Given the description of an element on the screen output the (x, y) to click on. 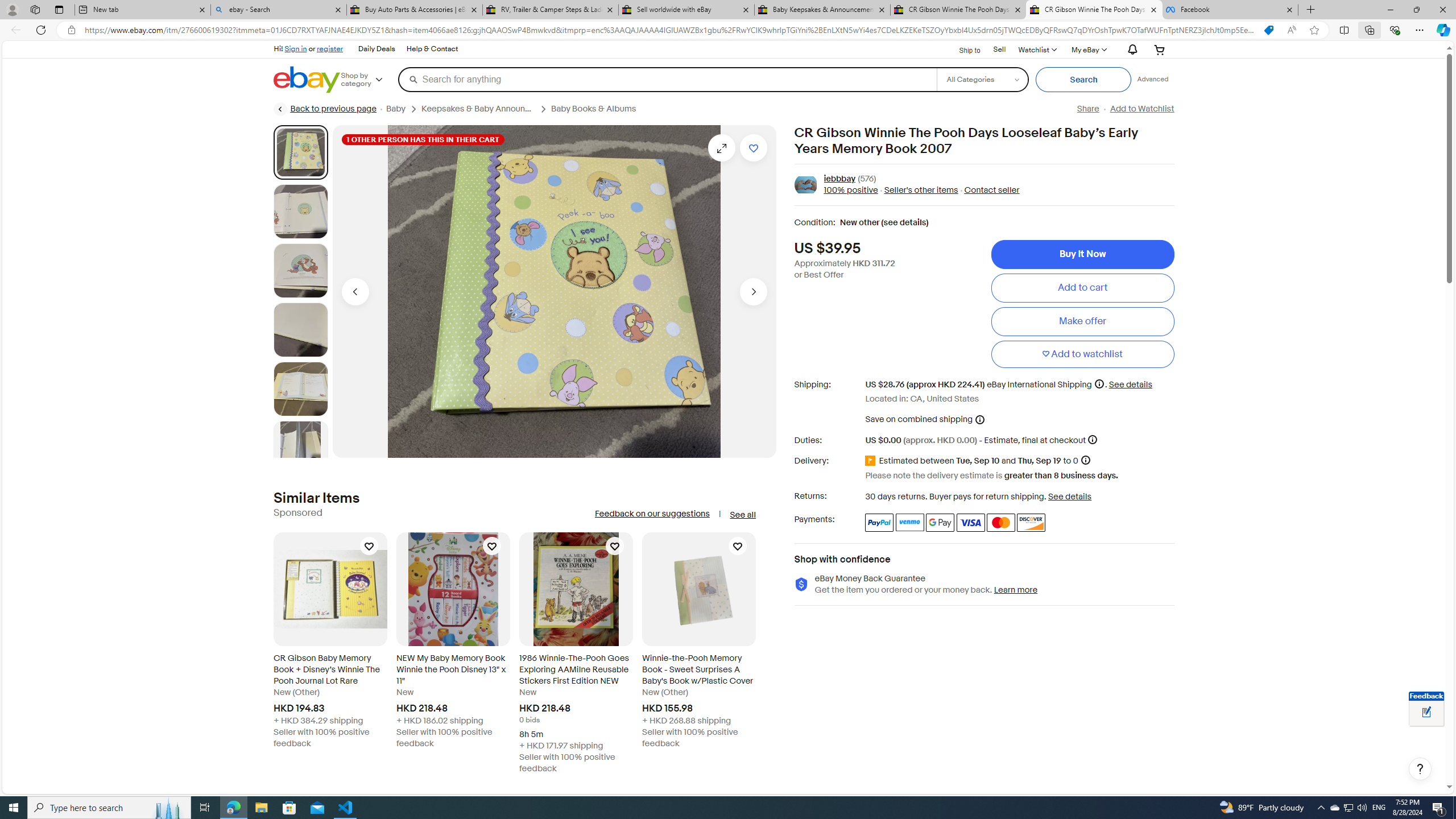
Buy Auto Parts & Accessories | eBay (414, 9)
You have the best price! (1268, 29)
